Given the description of an element on the screen output the (x, y) to click on. 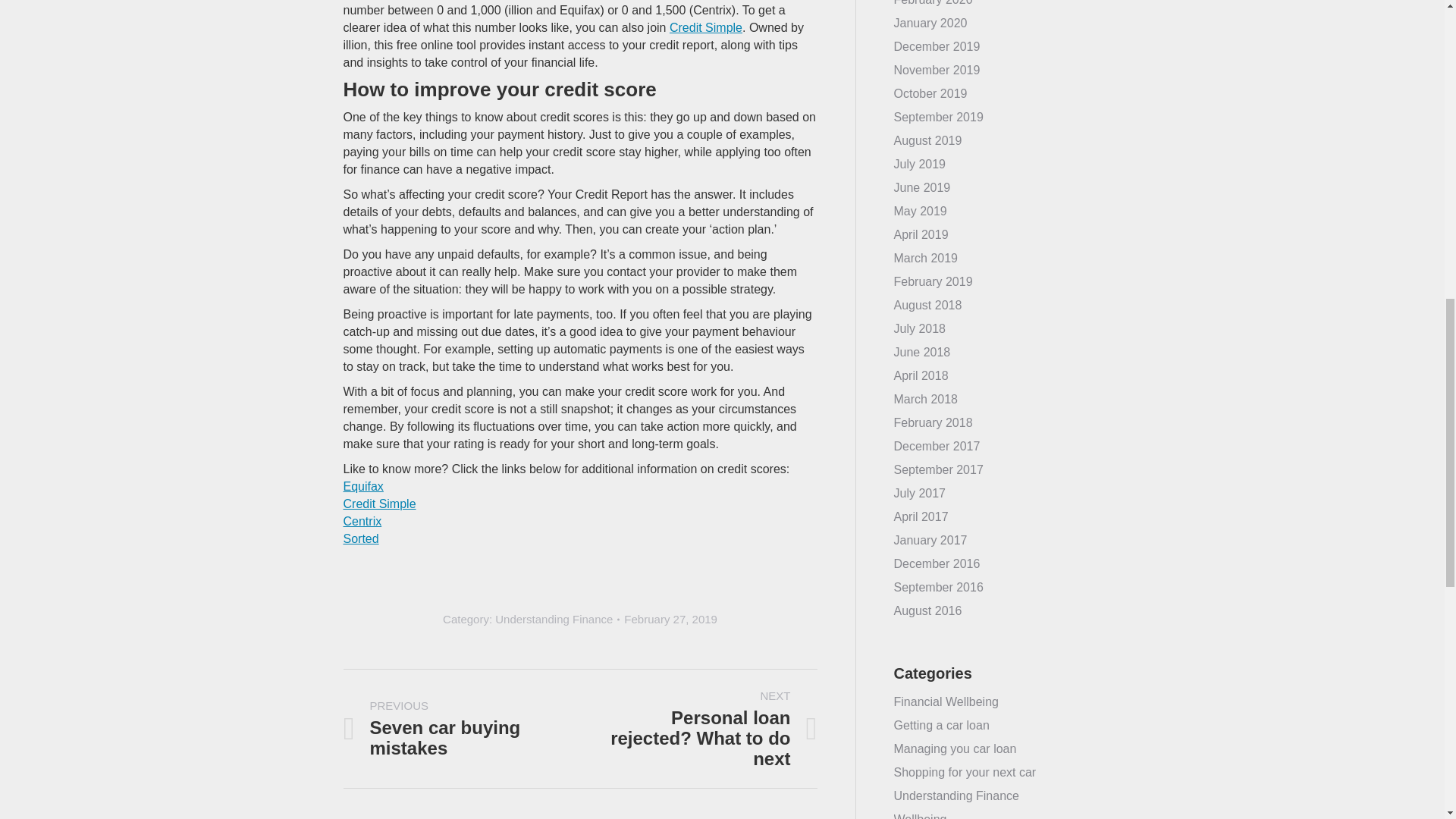
February 27, 2019 (670, 618)
Sorted (360, 538)
4:38 pm (670, 618)
Understanding Finance (709, 728)
Credit Simple (553, 618)
Equifax (705, 27)
Centrix (362, 485)
Credit Simple (449, 728)
